Given the description of an element on the screen output the (x, y) to click on. 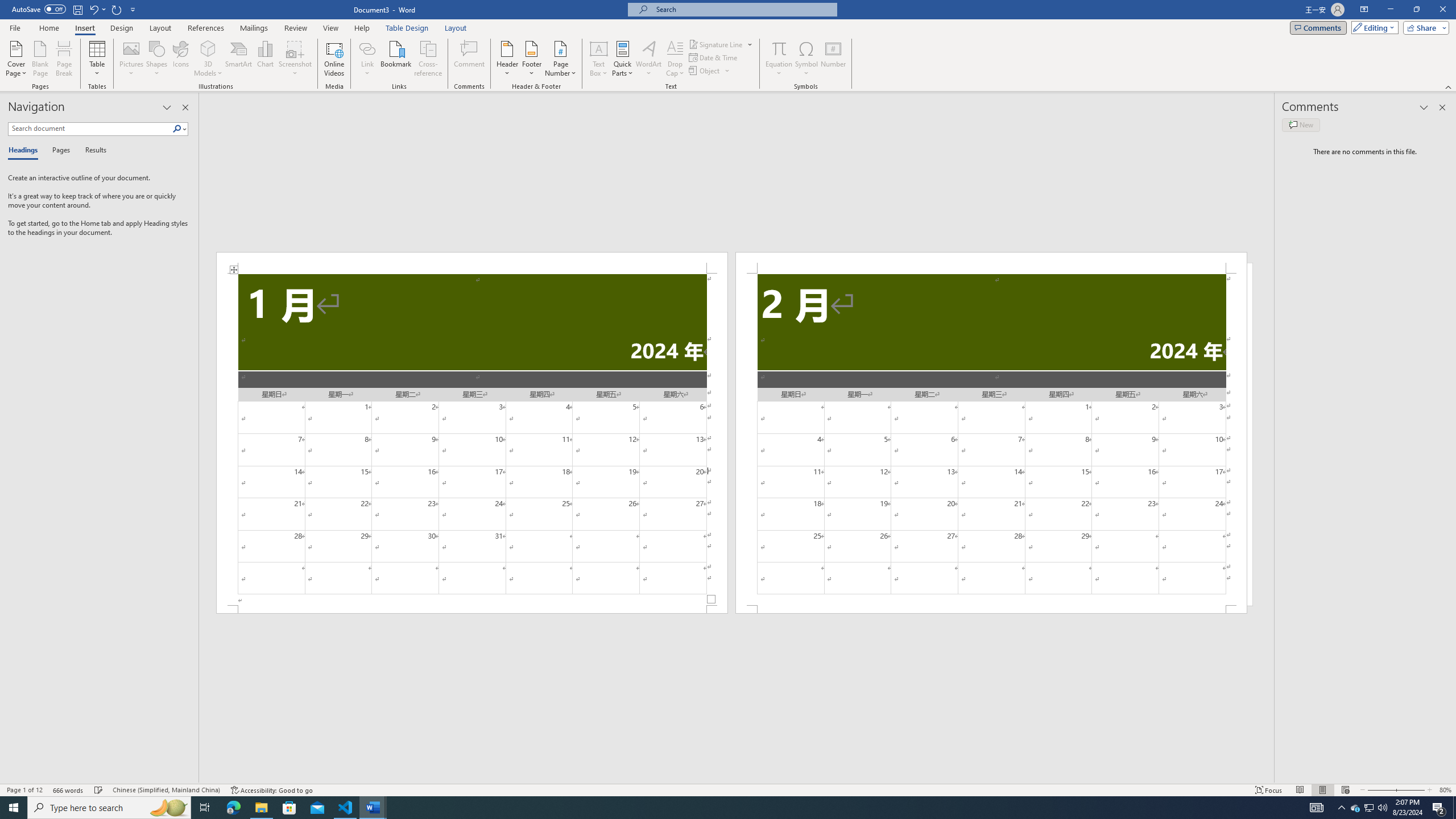
View (330, 28)
Customize Quick Access Toolbar (133, 9)
AutoSave (38, 9)
Page Number Page 1 of 12 (24, 790)
Class: MsoCommandBar (728, 789)
Header -Section 2- (991, 263)
Spelling and Grammar Check Checking (98, 790)
Save (77, 9)
Signature Line (716, 44)
Review (295, 28)
3D Models (208, 58)
Home (48, 28)
Quick Access Toolbar (74, 9)
Web Layout (1344, 790)
Footer -Section 1- (471, 609)
